Given the description of an element on the screen output the (x, y) to click on. 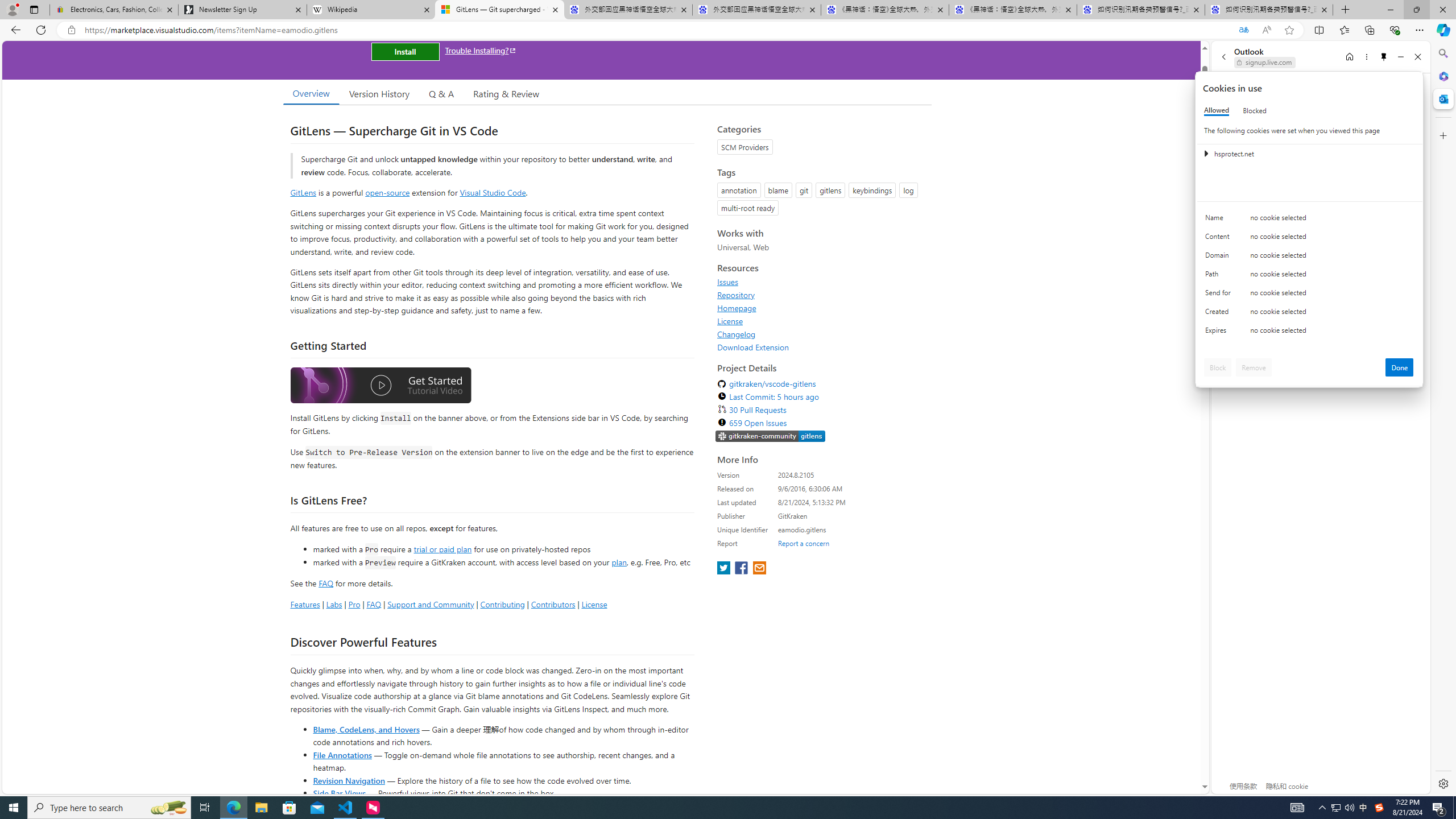
no cookie selected (1331, 332)
Allowed (1216, 110)
Block (1217, 367)
Class: c0153 c0157 (1309, 332)
Path (1219, 276)
Class: c0153 c0157 c0154 (1309, 220)
Content (1219, 239)
Domain (1219, 257)
Remove (1253, 367)
Created (1219, 313)
Expires (1219, 332)
Send for (1219, 295)
Name (1219, 220)
Blocked (1255, 110)
Done (1399, 367)
